Given the description of an element on the screen output the (x, y) to click on. 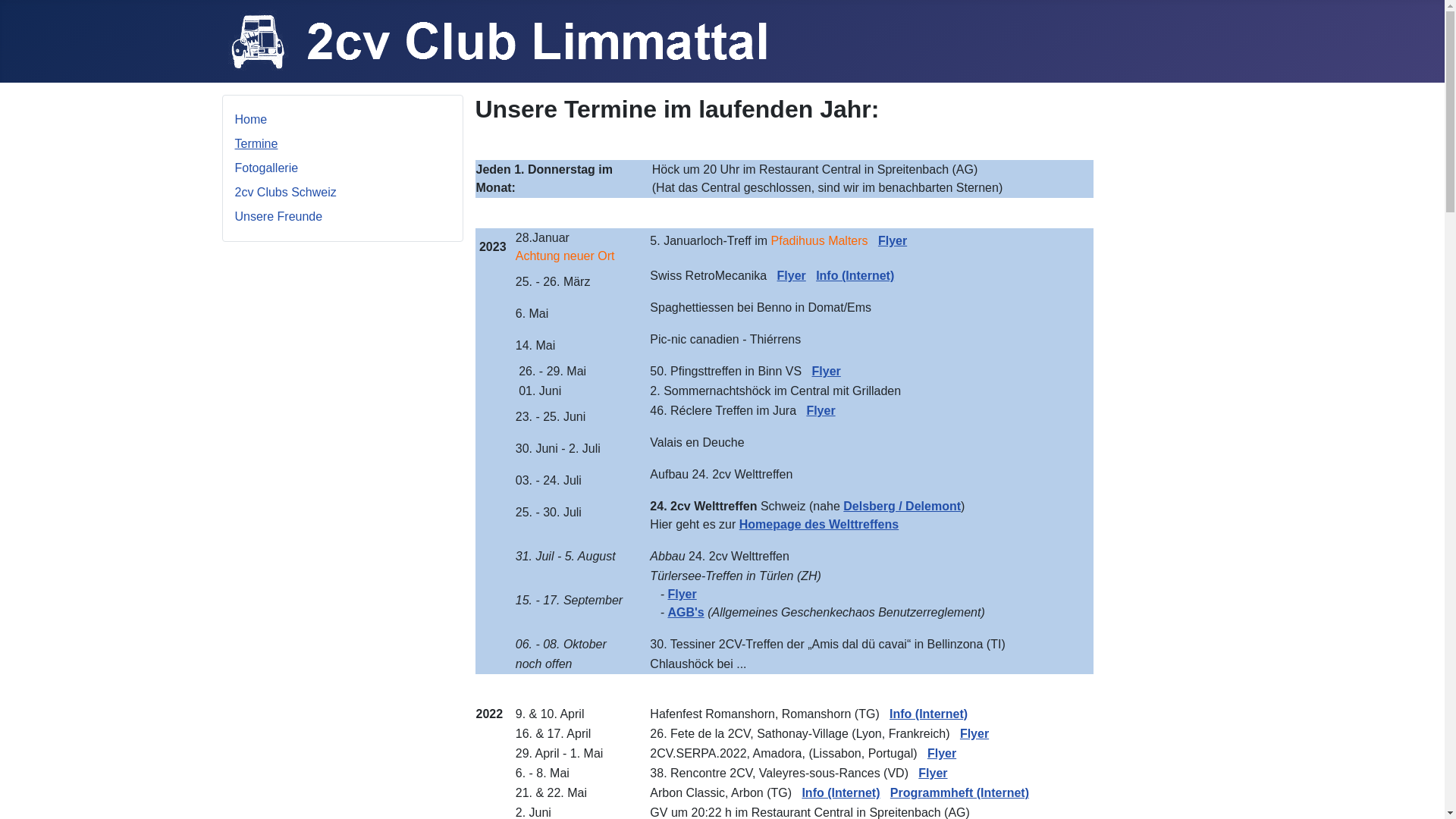
Flyer Element type: text (941, 752)
Flyer Element type: text (932, 772)
Info (Internet) Element type: text (840, 792)
Flyer Element type: text (791, 275)
Home Element type: text (251, 118)
Flyer Element type: text (681, 593)
2cv Clubs Schweiz Element type: text (285, 191)
Homepage des Welttreffens Element type: text (818, 523)
Info (Internet) Element type: text (928, 713)
Unsere Freunde Element type: text (279, 216)
AGB's Element type: text (685, 611)
Delsberg / Delemont Element type: text (901, 505)
Flyer Element type: text (826, 370)
Flyer Element type: text (820, 410)
Info (Internet) Element type: text (854, 275)
Flyer Element type: text (892, 240)
Termine Element type: text (256, 143)
Flyer Element type: text (974, 733)
Fotogallerie Element type: text (266, 167)
Programmheft (Internet) Element type: text (959, 792)
